Given the description of an element on the screen output the (x, y) to click on. 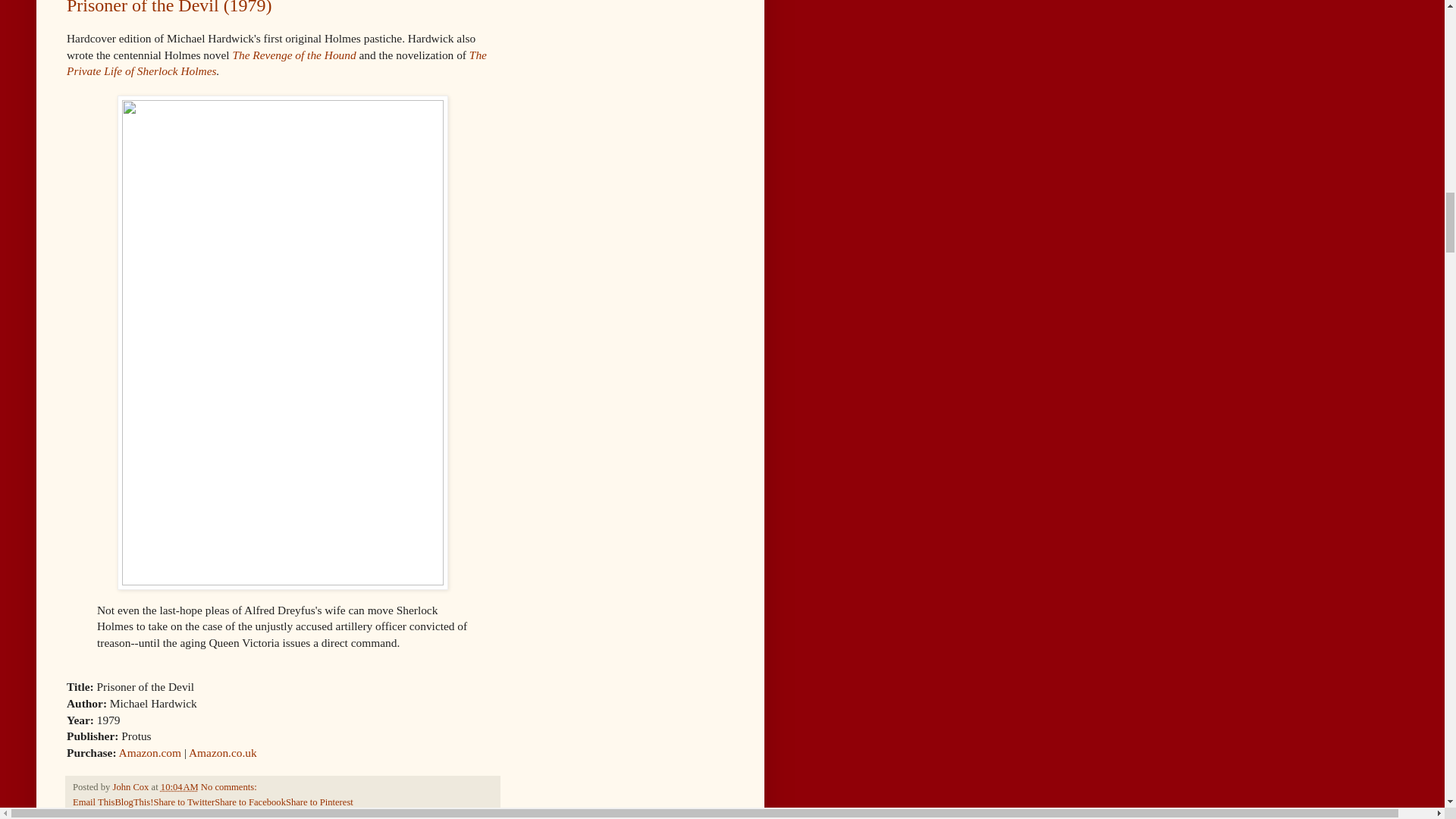
author profile (131, 787)
